Given the description of an element on the screen output the (x, y) to click on. 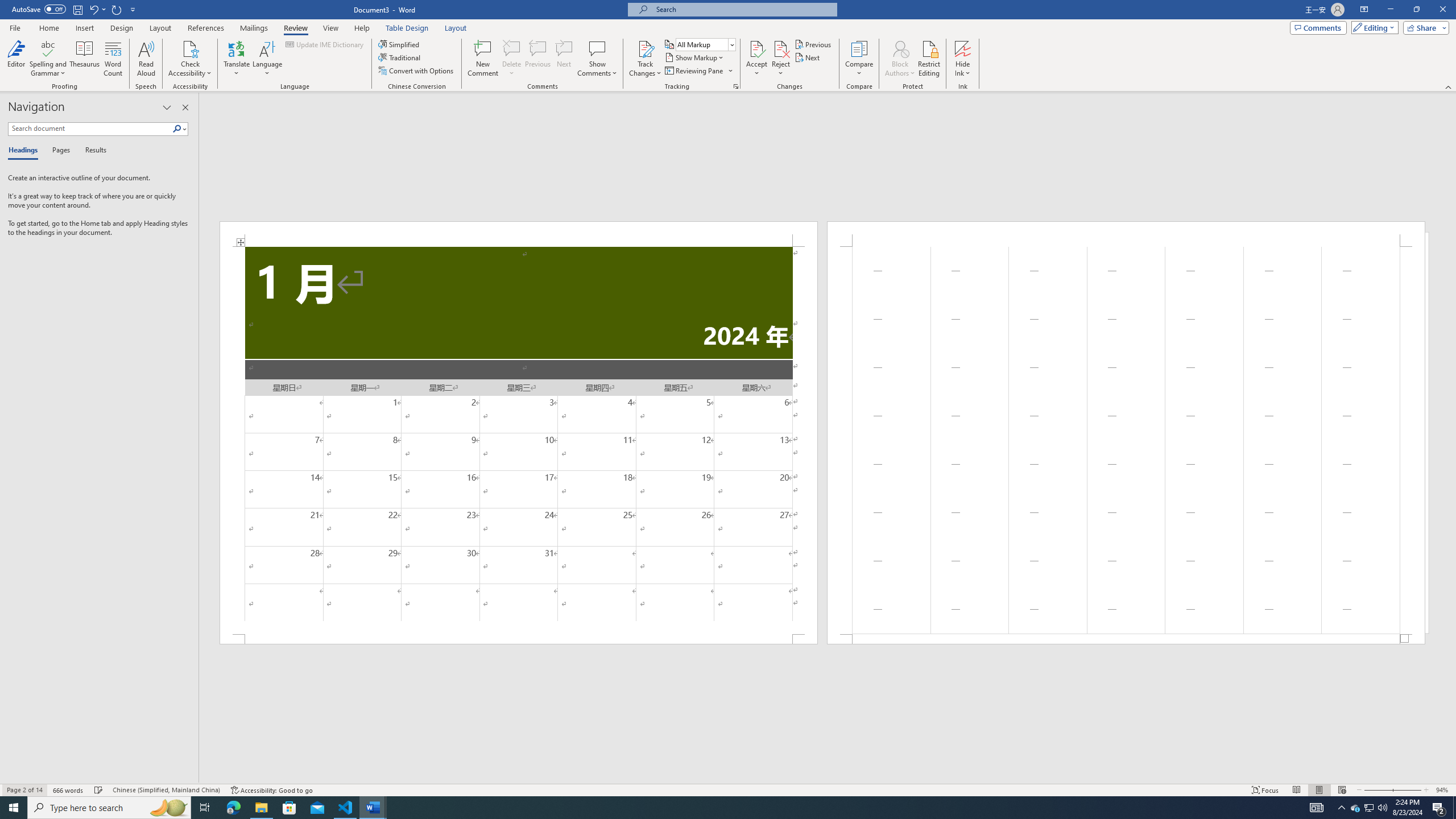
Thesaurus... (84, 58)
Update IME Dictionary... (324, 44)
Track Changes (644, 48)
Simplified (400, 44)
Language (267, 58)
Translate (236, 58)
